Given the description of an element on the screen output the (x, y) to click on. 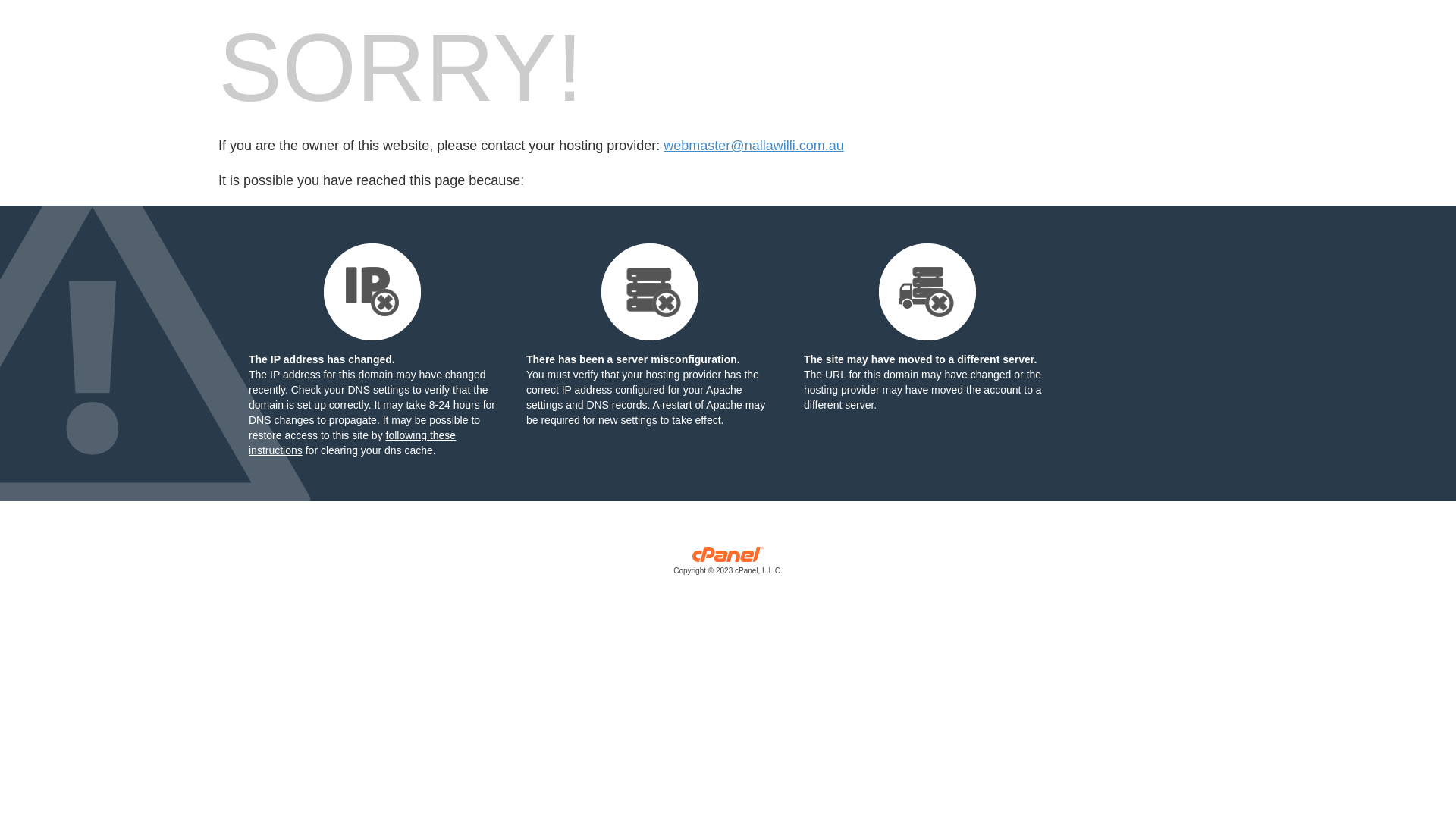
following these instructions Element type: text (351, 442)
webmaster@nallawilli.com.au Element type: text (753, 145)
